Given the description of an element on the screen output the (x, y) to click on. 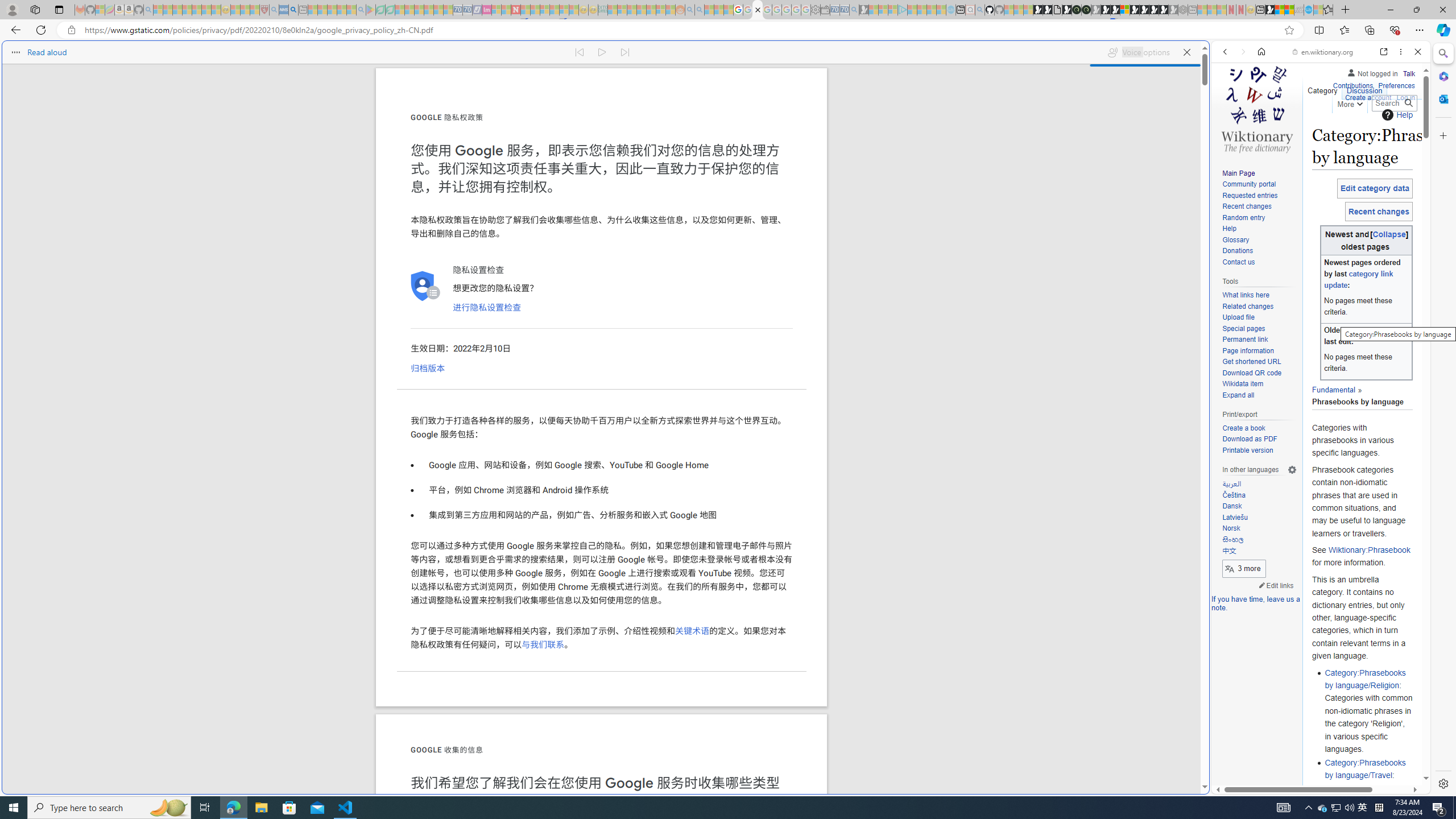
Fundamental (1333, 388)
Frequently visited (965, 151)
Discussion (1363, 87)
Printable version (1259, 450)
Contact us (1238, 261)
